Given the description of an element on the screen output the (x, y) to click on. 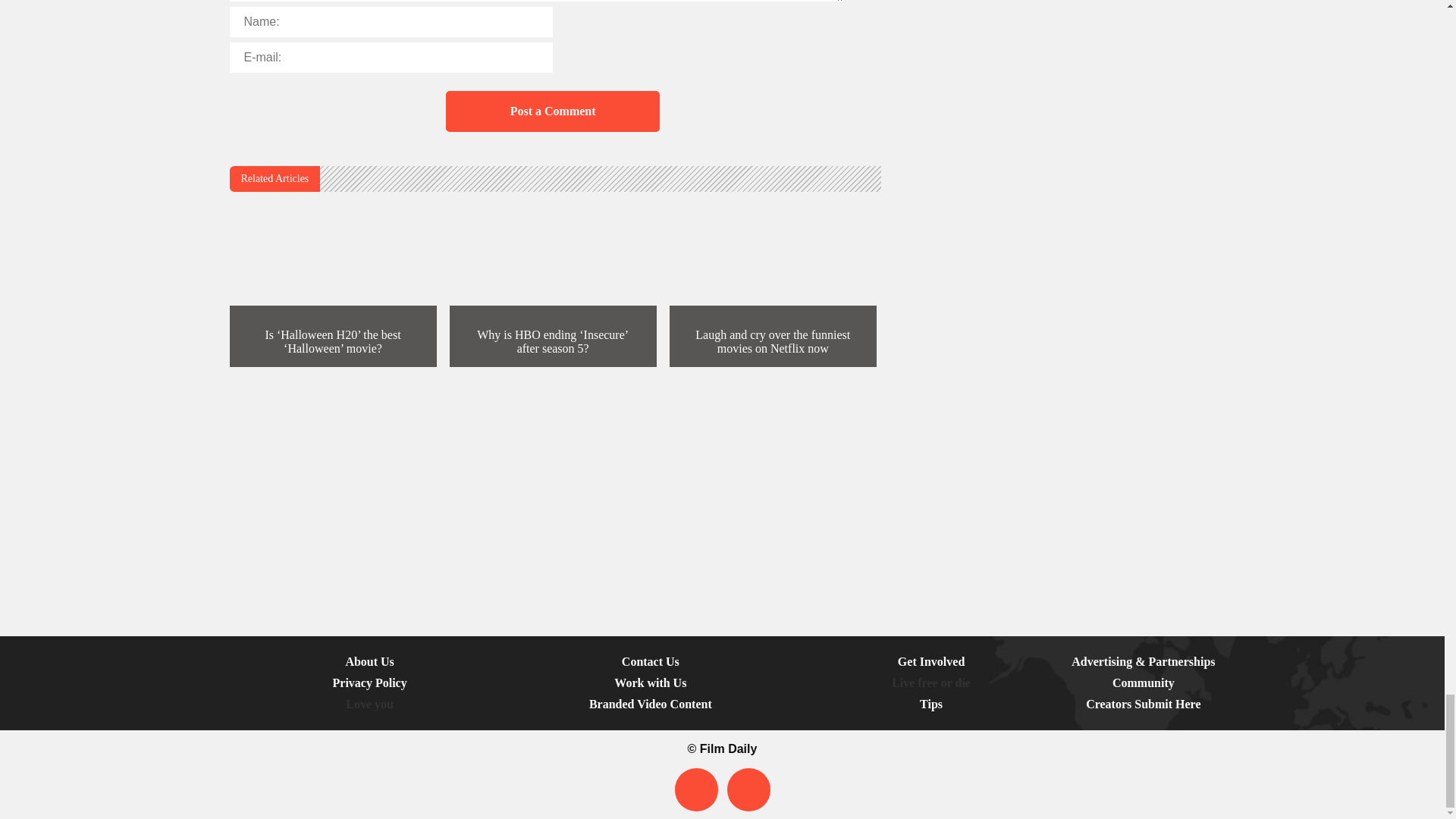
Post a Comment (552, 110)
